Given the description of an element on the screen output the (x, y) to click on. 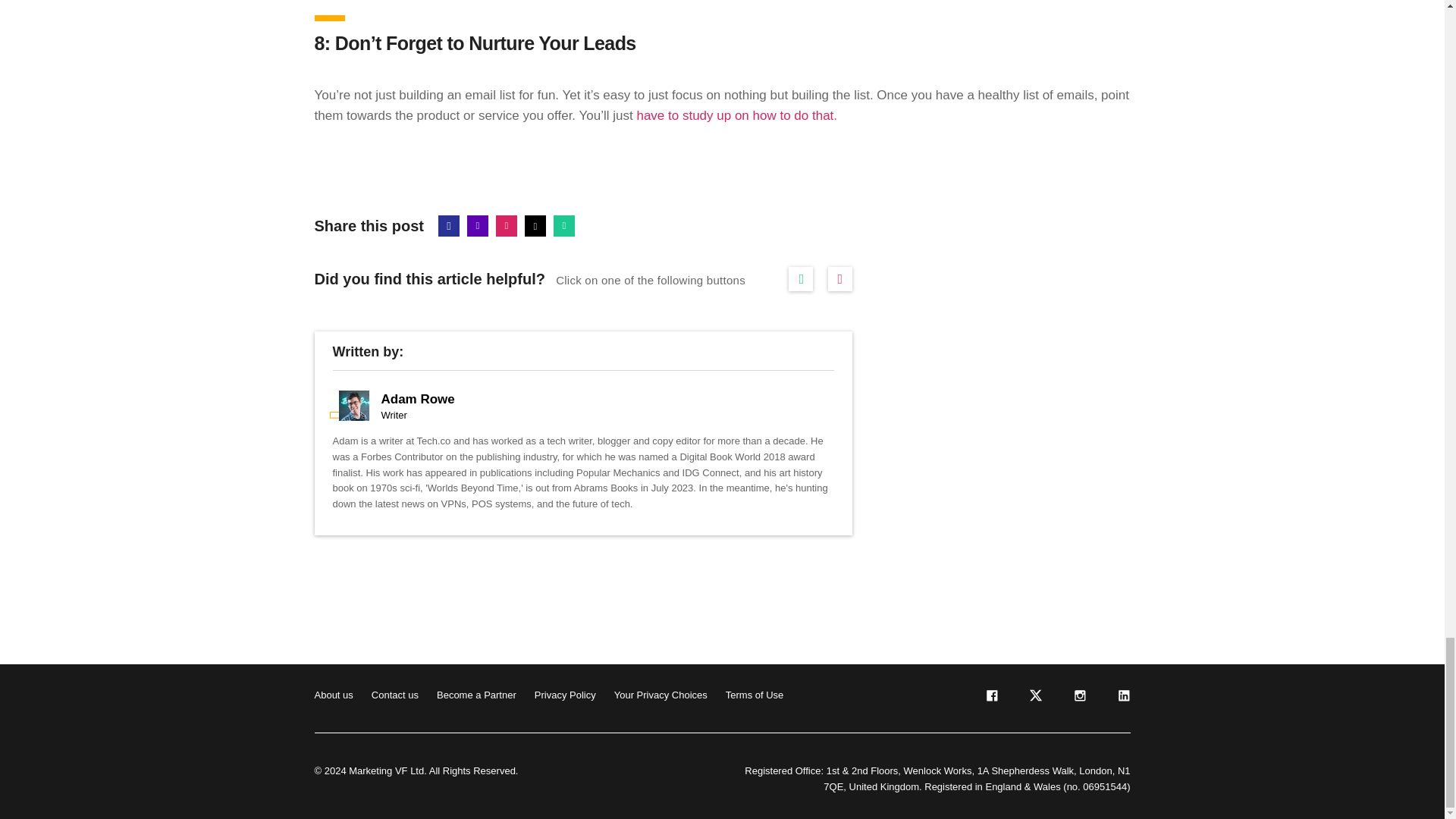
facebook (990, 698)
Linkedin (477, 225)
instagram (1078, 698)
Facebook (449, 225)
linkedin (1122, 698)
twitter-x (1034, 698)
Twitter-x (535, 225)
Flipboard (506, 225)
Whatsapp (564, 225)
